Given the description of an element on the screen output the (x, y) to click on. 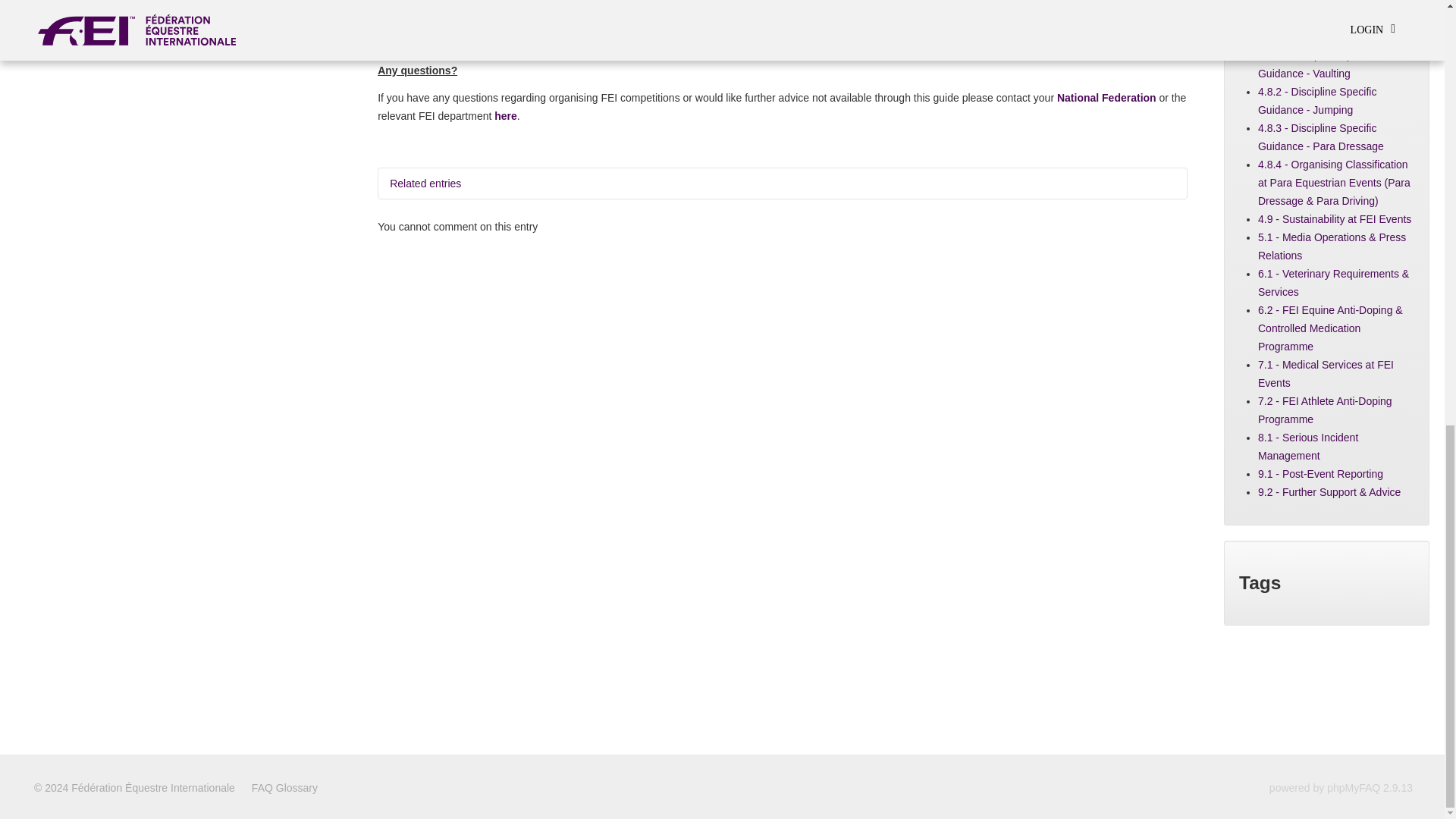
Related entries (782, 183)
National Federation (1106, 97)
here (505, 115)
